Given the description of an element on the screen output the (x, y) to click on. 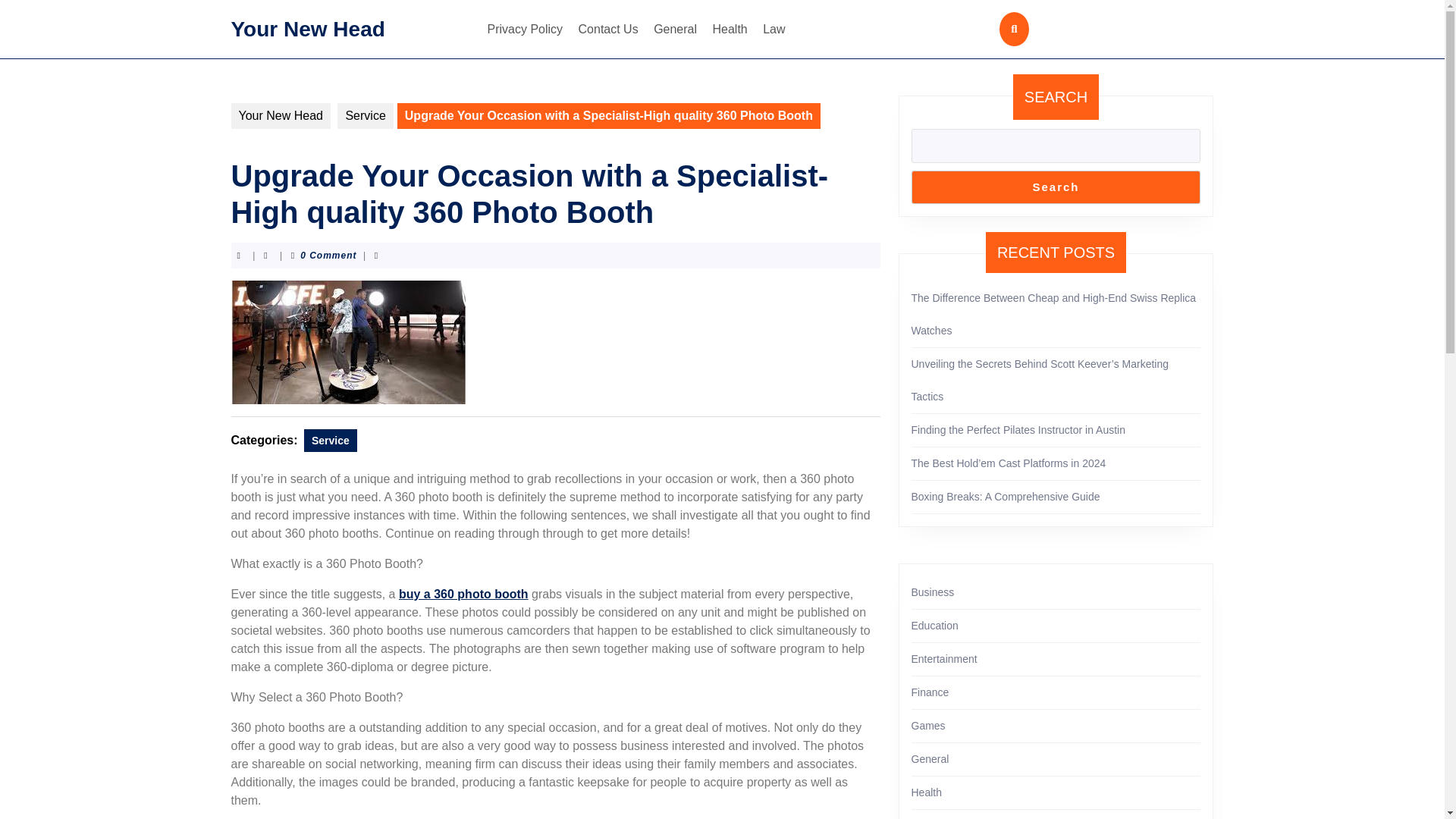
Health (730, 28)
Your New Head (307, 28)
Business (933, 592)
Your New Head (280, 115)
Boxing Breaks: A Comprehensive Guide (1005, 496)
Education (934, 625)
Search (1056, 186)
buy a 360 photo booth (463, 594)
Finding the Perfect Pilates Instructor in Austin (1018, 429)
Privacy Policy (524, 28)
